Given the description of an element on the screen output the (x, y) to click on. 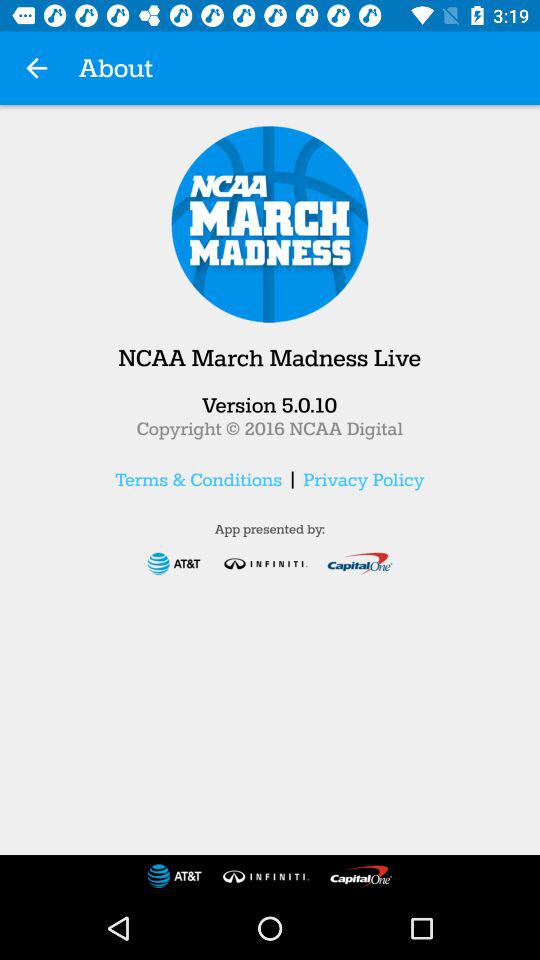
swipe until privacy policy (363, 479)
